Given the description of an element on the screen output the (x, y) to click on. 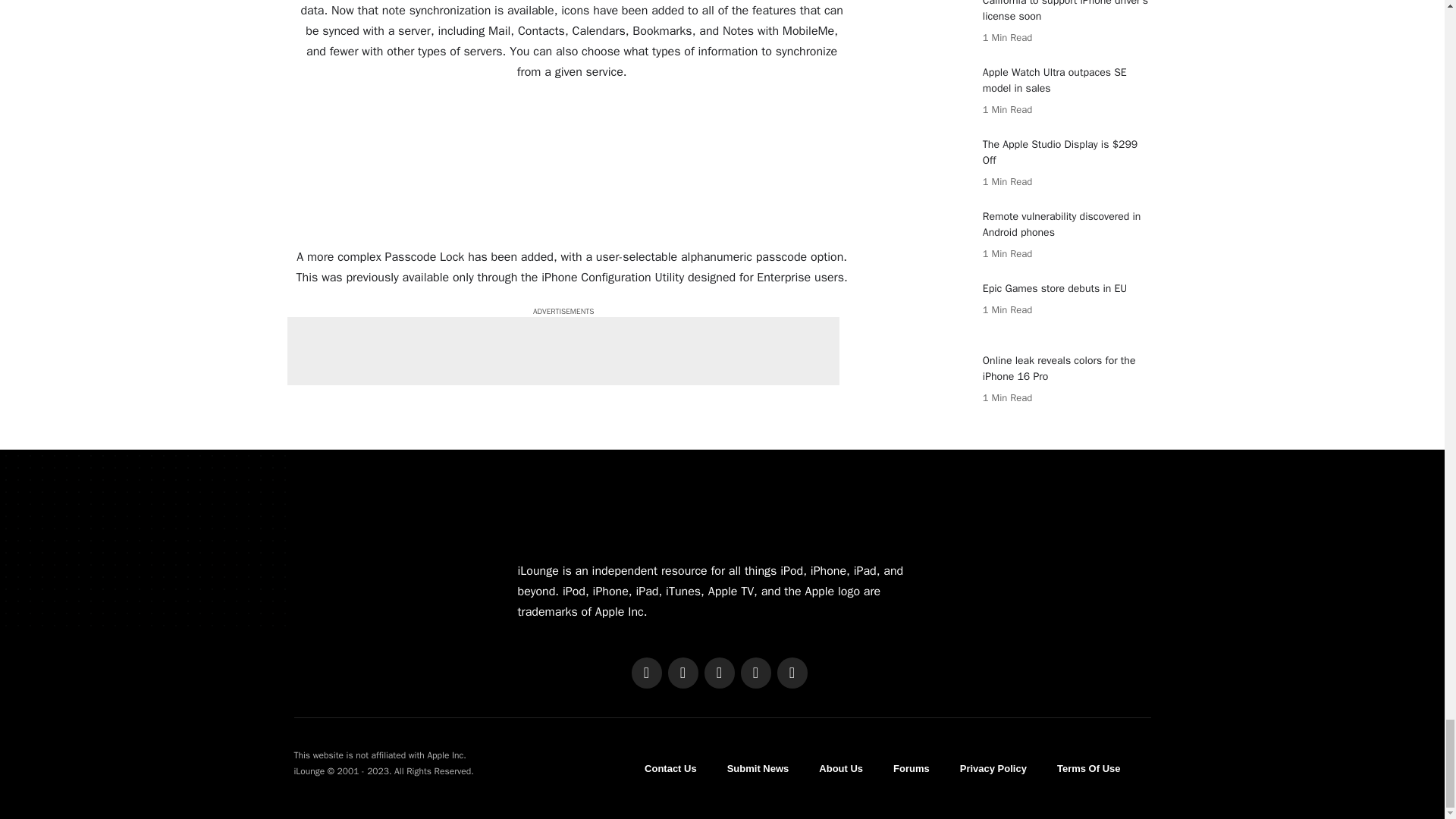
LinkedIn (754, 672)
Instagram (718, 672)
Twitter (681, 672)
Facebook (645, 672)
